Given the description of an element on the screen output the (x, y) to click on. 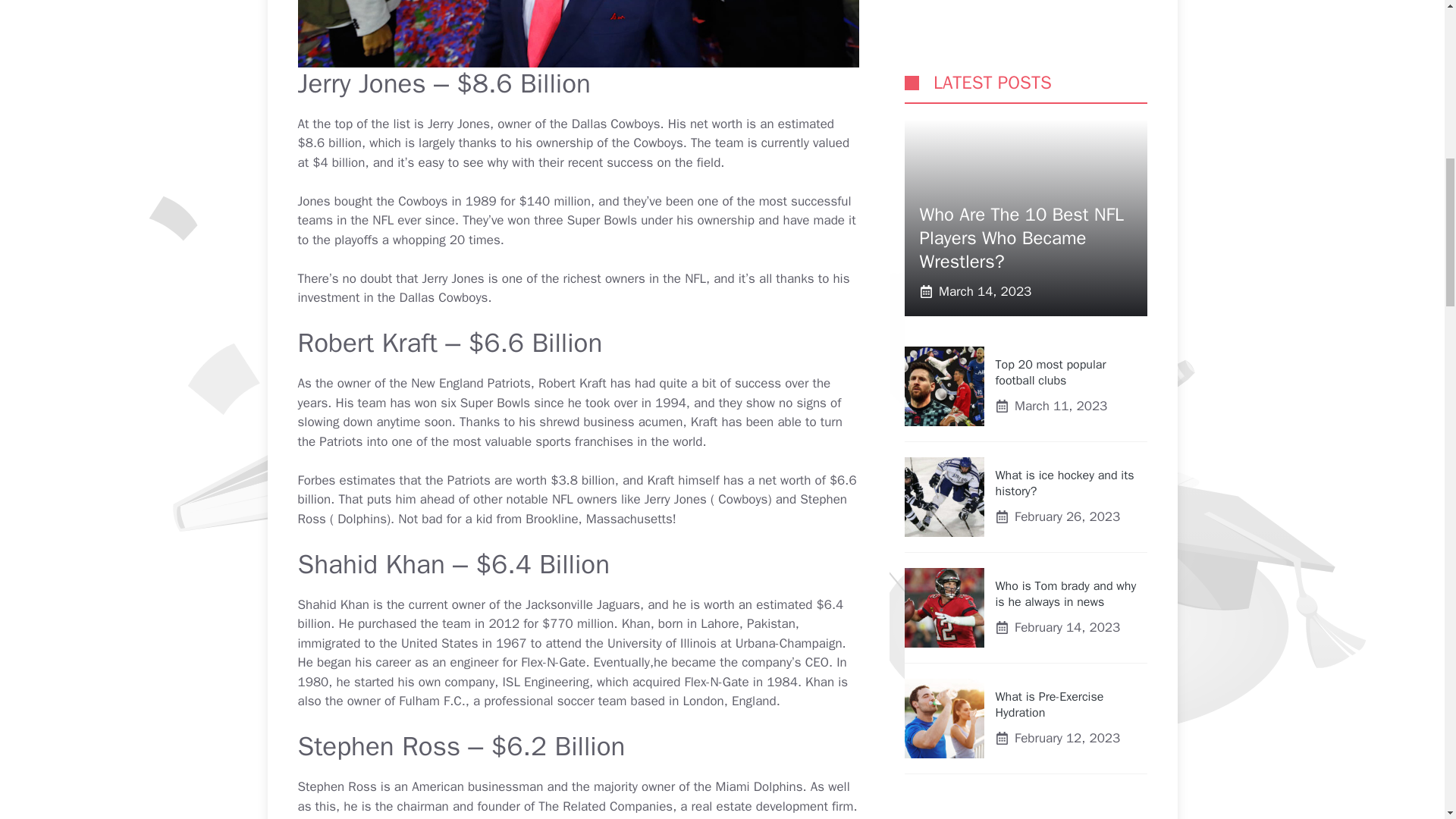
Scroll back to top (1406, 720)
Who is Tom brady and why is he always in news (1064, 137)
What is ice hockey and its history? (1064, 26)
What is Pre-Exercise Hydration (1048, 247)
